Given the description of an element on the screen output the (x, y) to click on. 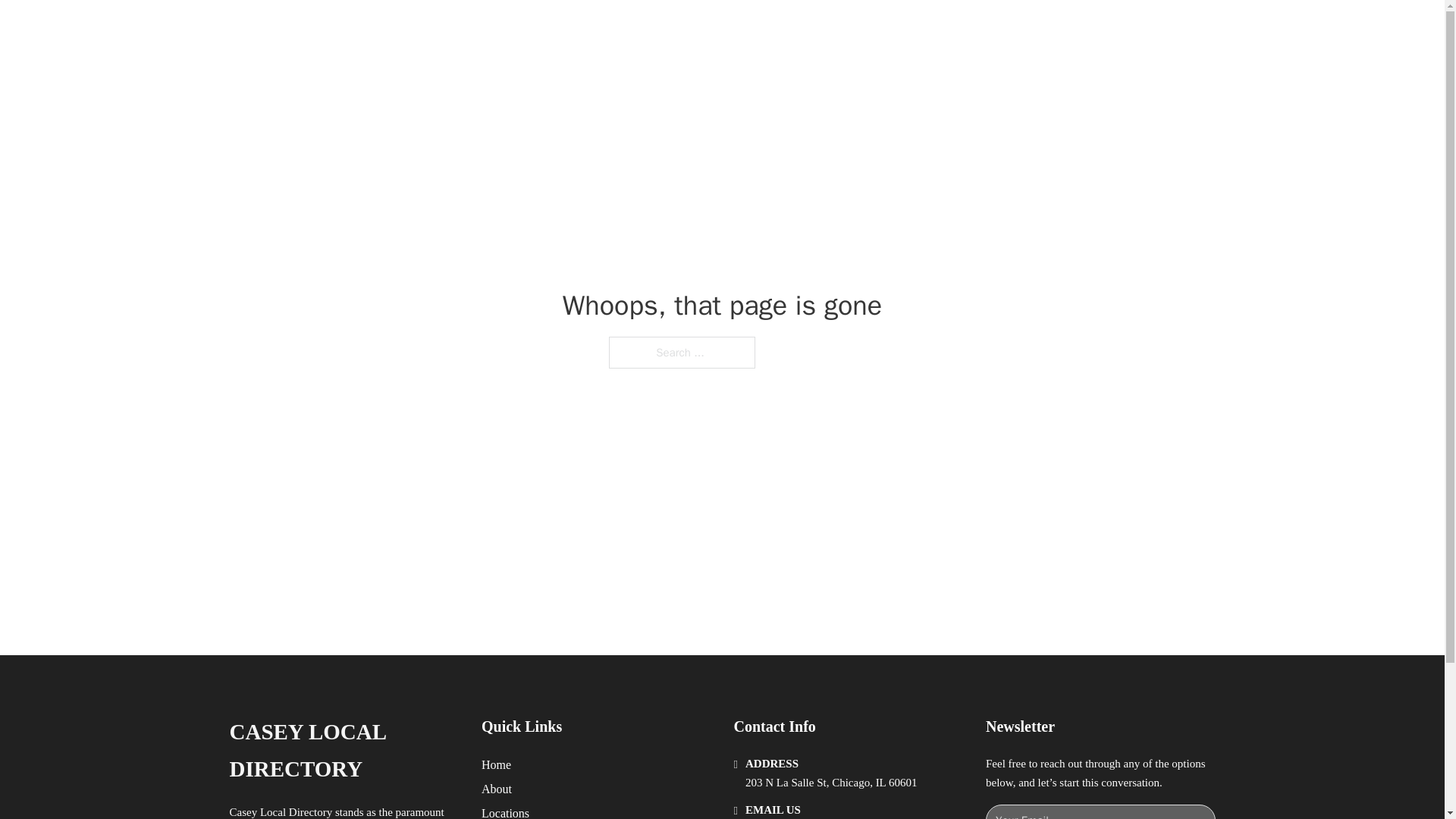
Home (496, 764)
LOCATIONS (990, 29)
CASEY LOCAL DIRECTORY (436, 28)
Locations (505, 811)
About (496, 788)
CASEY LOCAL DIRECTORY (343, 750)
HOME (919, 29)
